Given the description of an element on the screen output the (x, y) to click on. 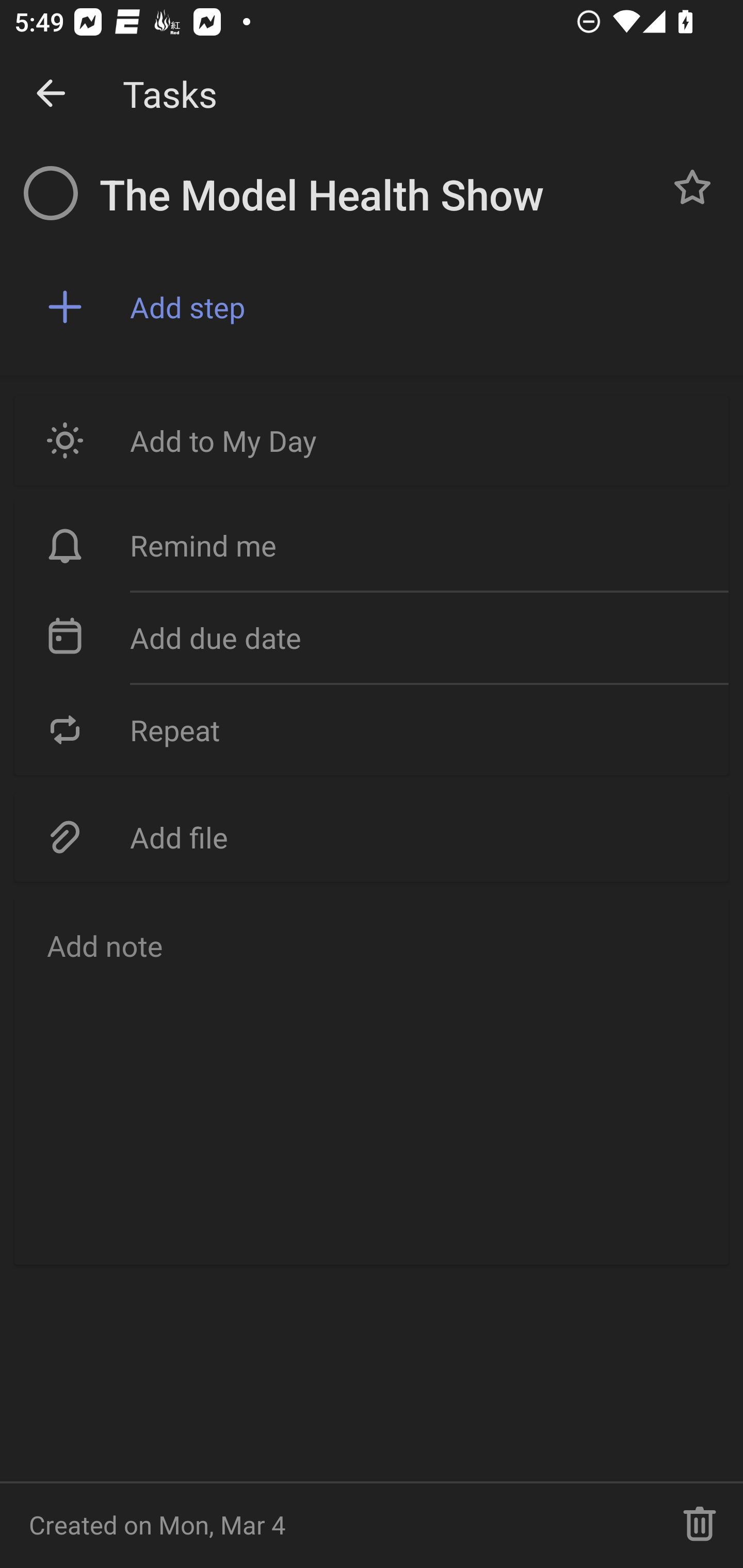
Dismiss detail view (50, 93)
Incomplete task The Model Health Show, Button (50, 192)
The Model Health Show (374, 195)
Normal task The Model Health Show, Button (692, 187)
Add step (422, 307)
Add to My Day (371, 440)
Remind me (371, 545)
Add due date (371, 637)
Repeat (371, 729)
Add file (371, 836)
Add note, Button Email Renderer Add note (371, 1080)
Delete task (699, 1524)
